Given the description of an element on the screen output the (x, y) to click on. 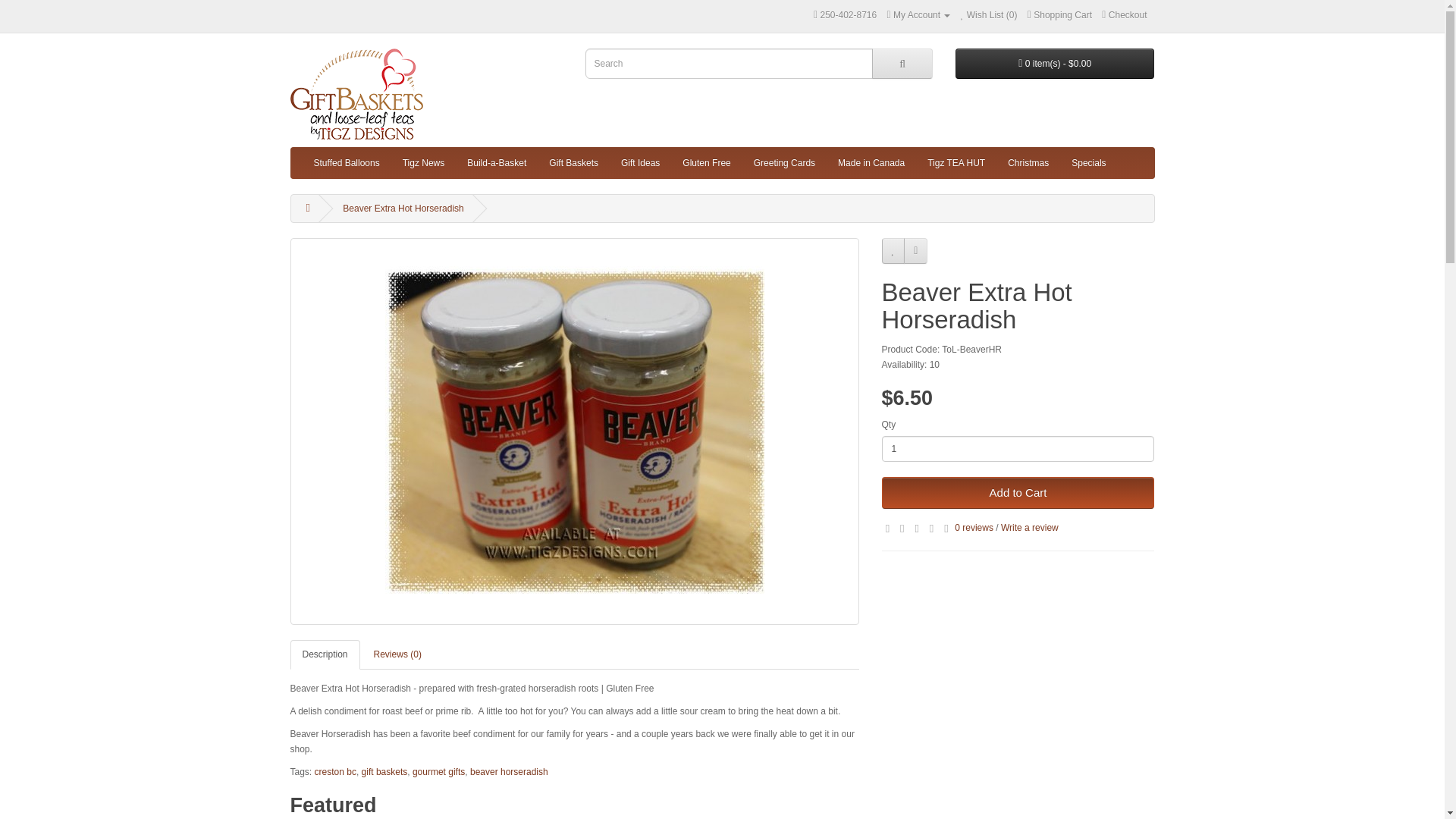
My Account (918, 14)
Checkout (1124, 14)
Gift Baskets (573, 163)
Checkout (1124, 14)
Shopping Cart (1059, 14)
Build-a-Basket (496, 163)
1 (1017, 448)
Stuffed Balloons (345, 163)
Shopping Cart (1059, 14)
Tigz News (424, 163)
My Account (918, 14)
